Given the description of an element on the screen output the (x, y) to click on. 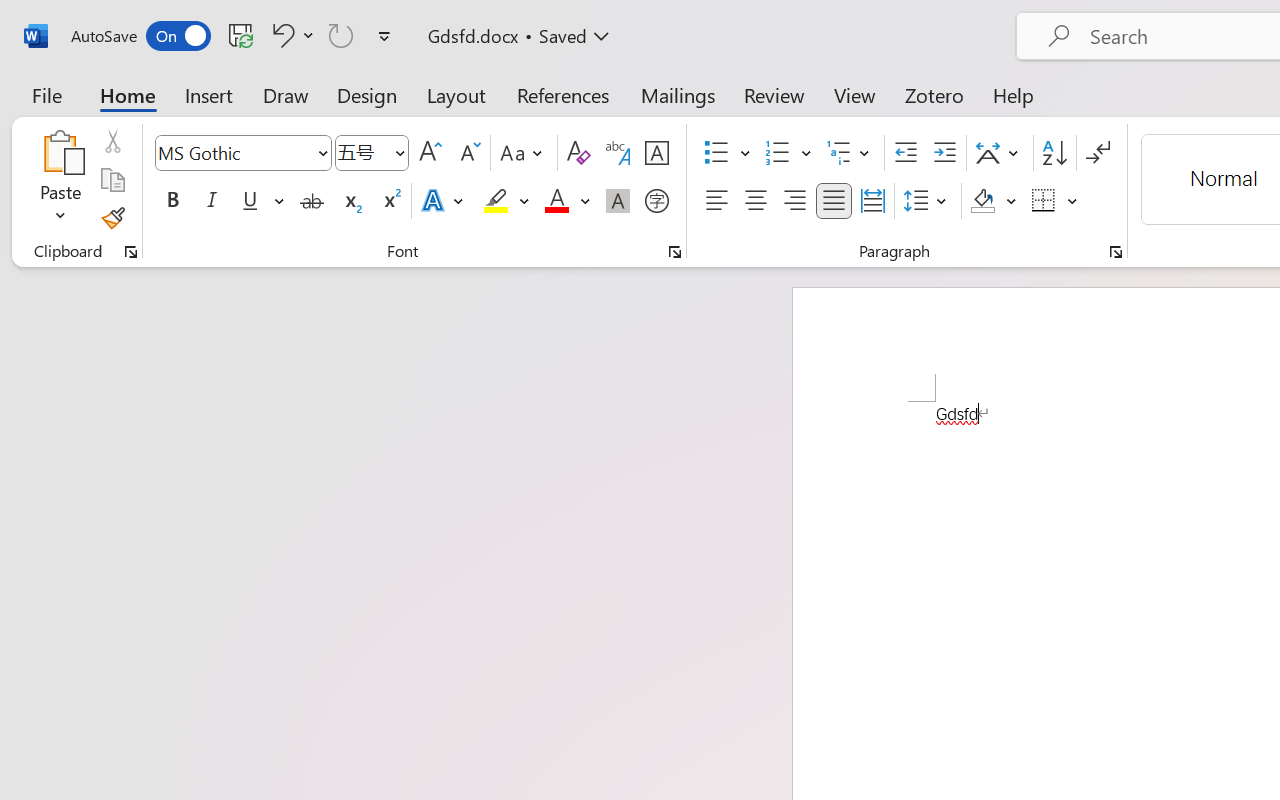
Undo Font Formatting (290, 35)
